Given the description of an element on the screen output the (x, y) to click on. 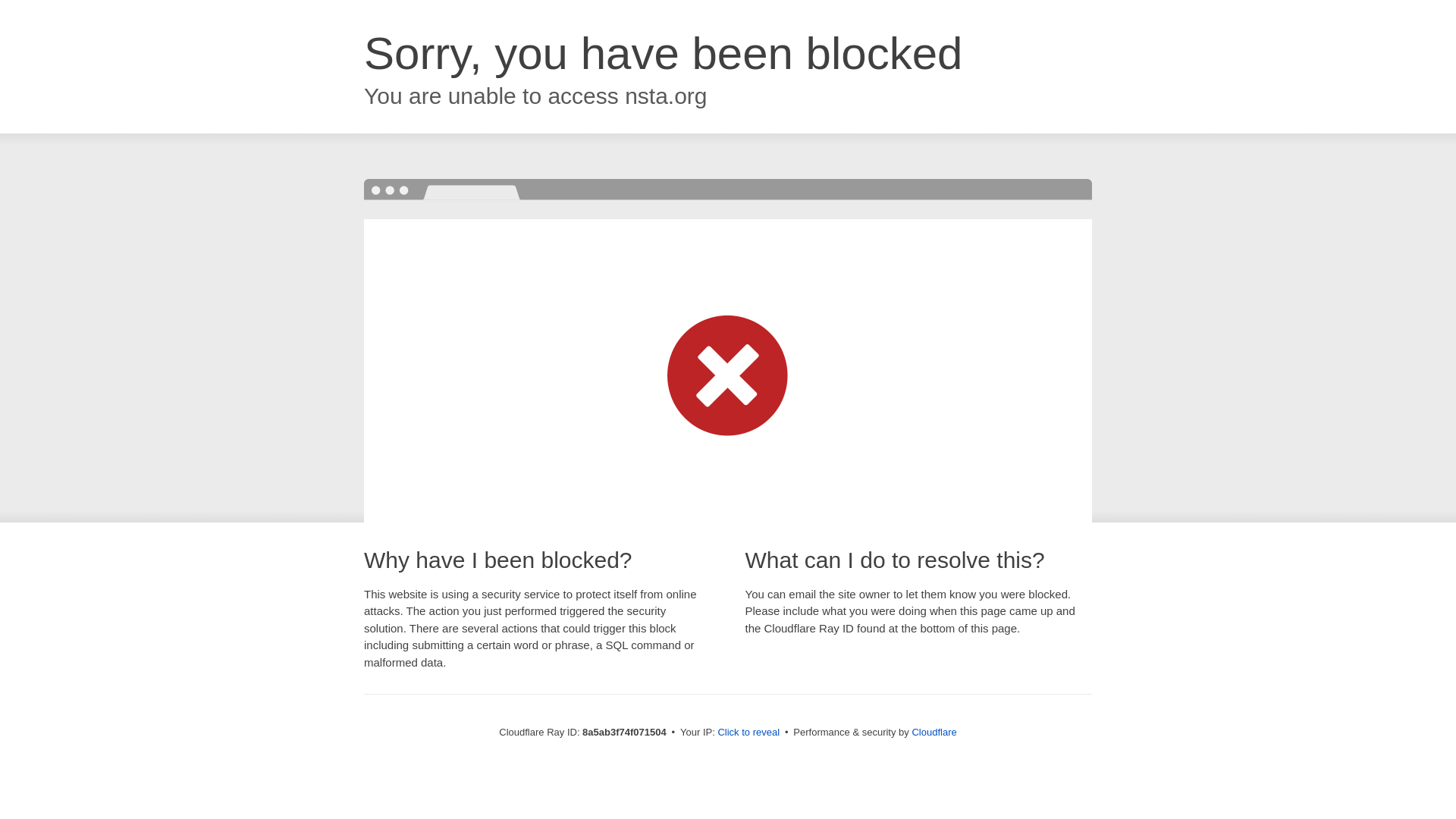
Cloudflare (933, 731)
Click to reveal (747, 732)
